Given the description of an element on the screen output the (x, y) to click on. 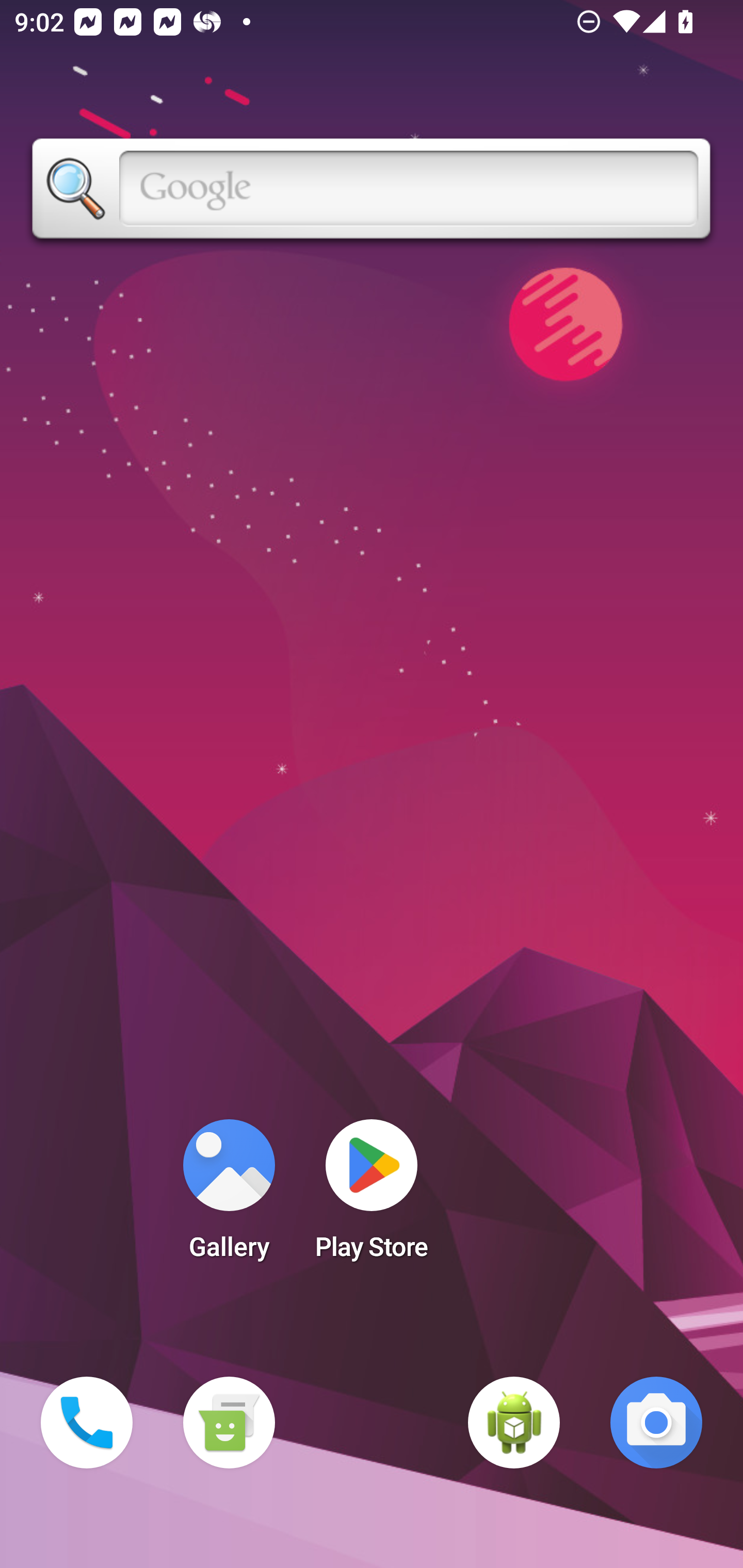
Gallery (228, 1195)
Play Store (371, 1195)
Phone (86, 1422)
Messaging (228, 1422)
WebView Browser Tester (513, 1422)
Camera (656, 1422)
